Given the description of an element on the screen output the (x, y) to click on. 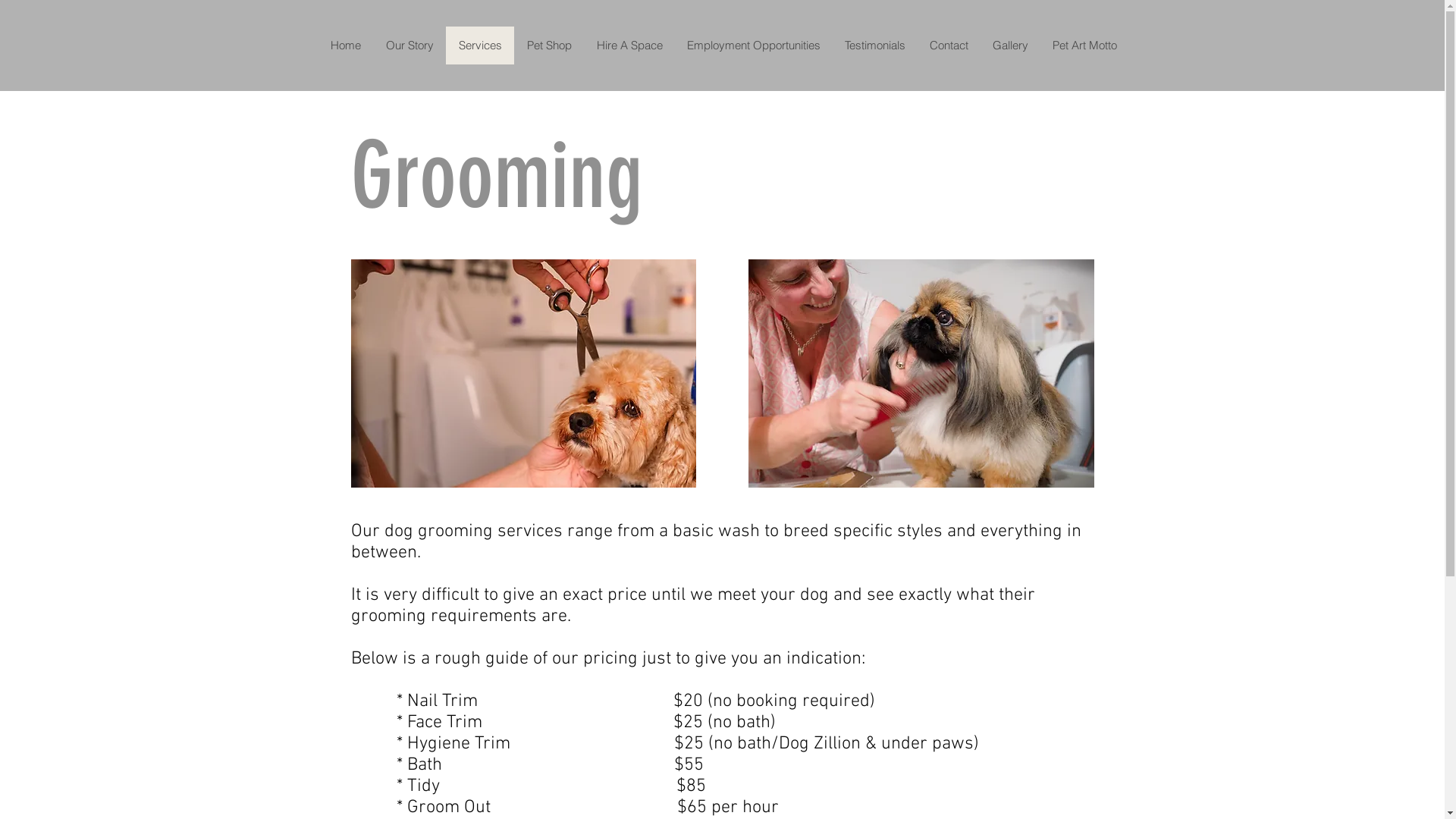
Dog Portrait Element type: hover (522, 373)
Services Element type: text (479, 45)
Hire A Space Element type: text (628, 45)
Home Element type: text (345, 45)
Testimonials Element type: text (874, 45)
Gallery Element type: text (1009, 45)
Pet Shop Element type: text (548, 45)
Our Story Element type: text (409, 45)
Employment Opportunities Element type: text (753, 45)
Pet Art Motto Element type: text (1084, 45)
Contact Element type: text (948, 45)
Wet Dog Element type: hover (920, 373)
